Given the description of an element on the screen output the (x, y) to click on. 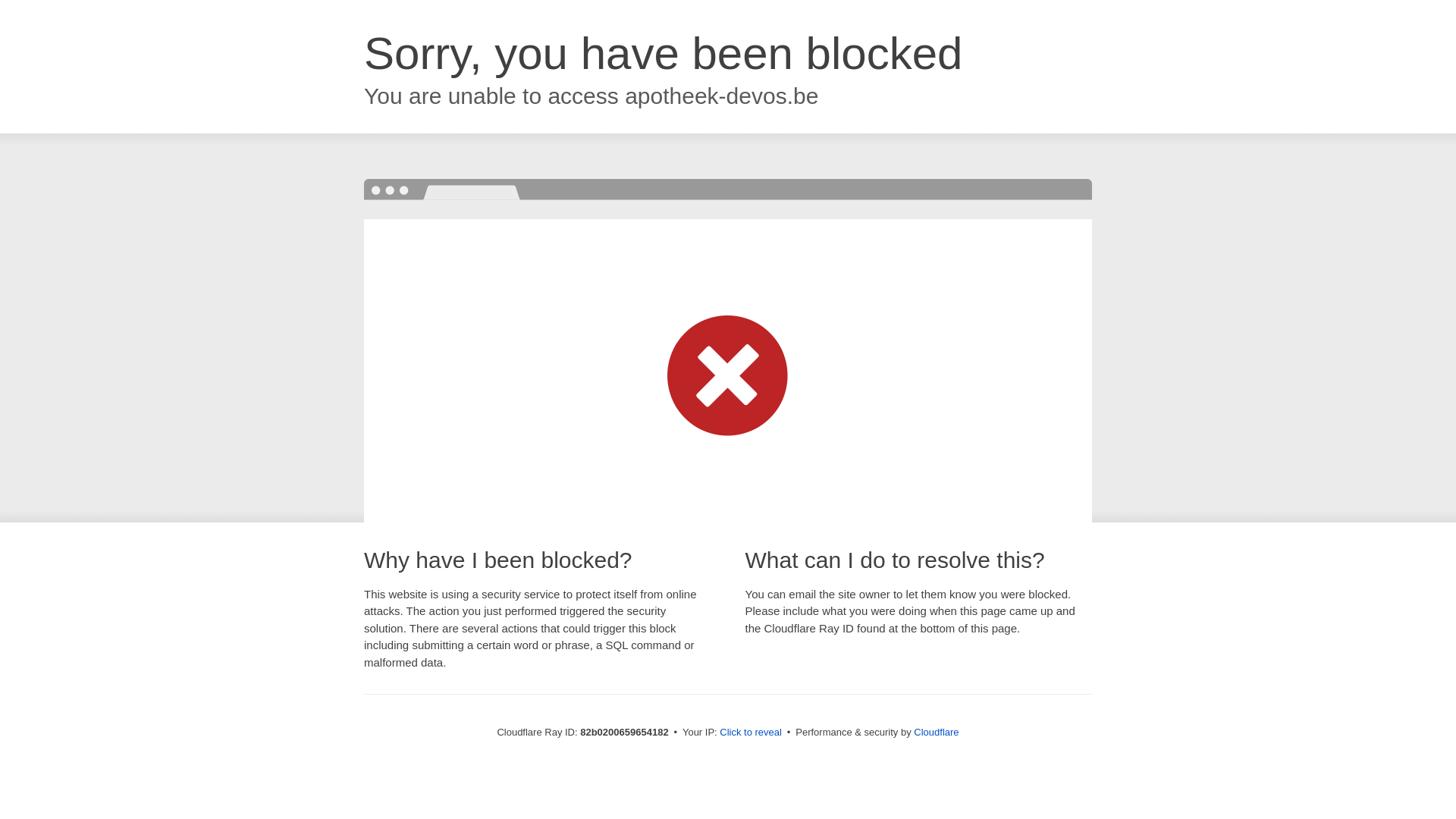
Cloudflare Element type: text (935, 731)
Click to reveal Element type: text (750, 732)
